Given the description of an element on the screen output the (x, y) to click on. 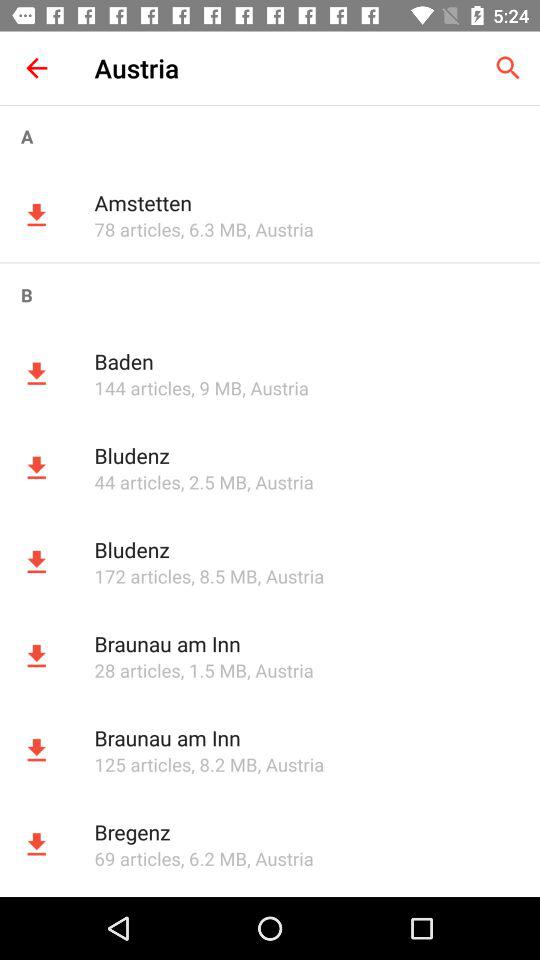
click on download icon beside baden (36, 373)
